Given the description of an element on the screen output the (x, y) to click on. 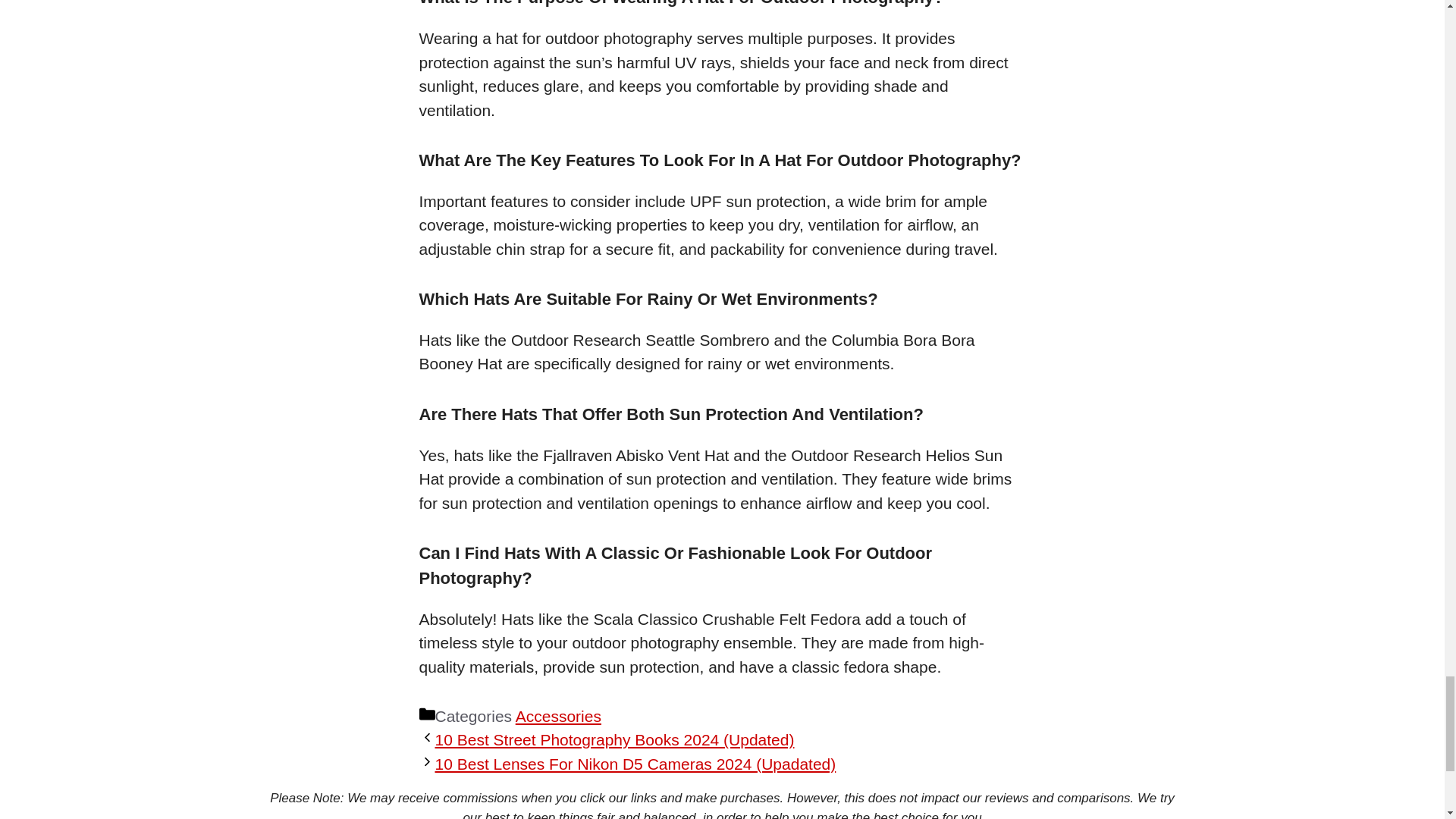
Accessories (558, 715)
